Given the description of an element on the screen output the (x, y) to click on. 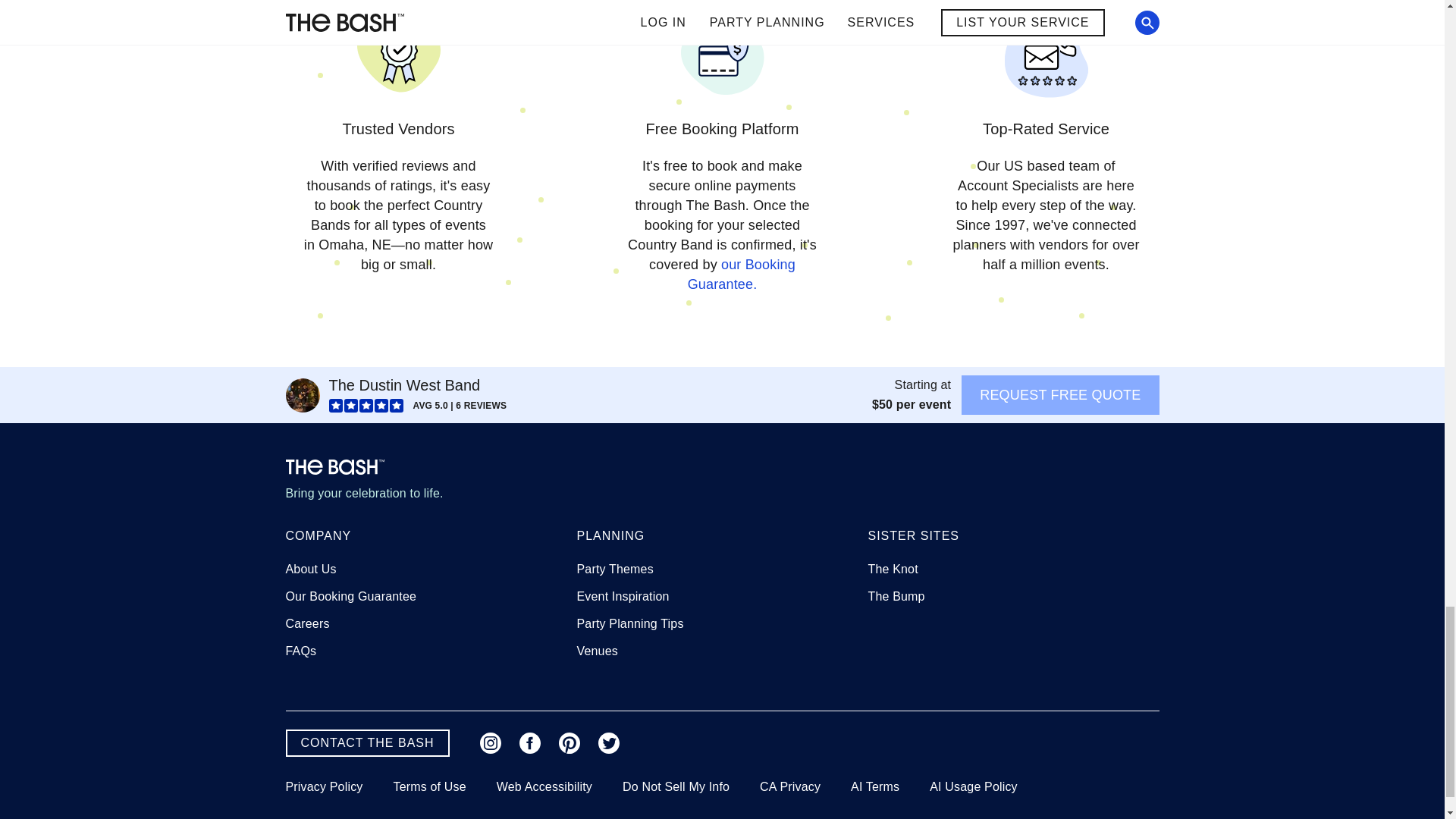
Frequently Asked Questions (300, 650)
The Bash Logo (334, 467)
